Given the description of an element on the screen output the (x, y) to click on. 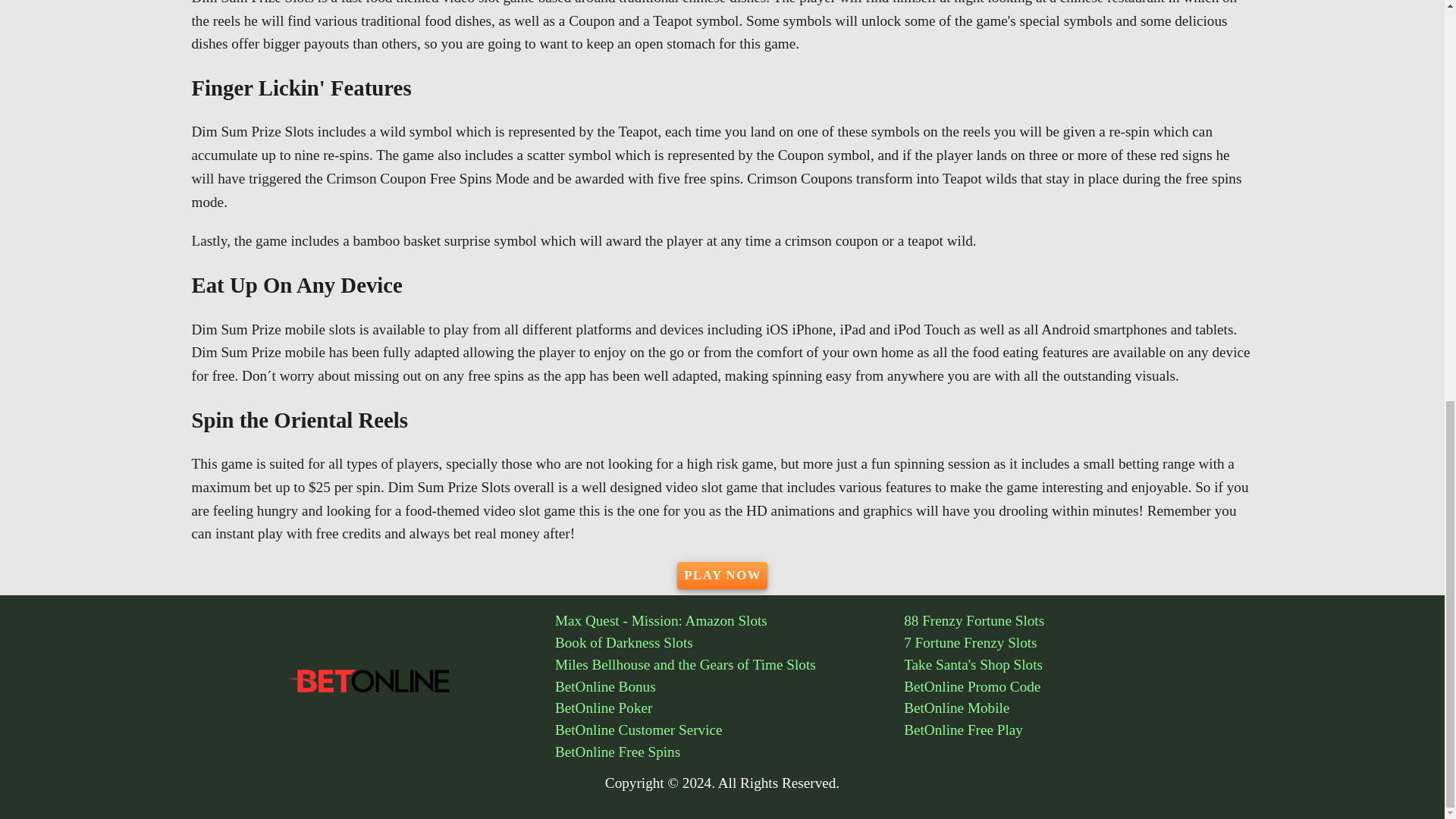
BetOnline Mobile (1078, 708)
7 Fortune Frenzy Slots (1078, 643)
BetOnline Poker (729, 708)
BetOnline Promo Code (1078, 687)
Book of Darkness Slots (729, 643)
BetOnline Customer Service (729, 730)
BetOnline Free Spins (729, 752)
Max Quest - Mission: Amazon Slots (729, 621)
Miles Bellhouse and the Gears of Time Slots (729, 665)
88 Frenzy Fortune Slots (1078, 621)
BetOnline Free Play (1078, 730)
BetOnline Bonus (729, 687)
Take Santa's Shop Slots (1078, 665)
PLAY NOW (722, 574)
